Given the description of an element on the screen output the (x, y) to click on. 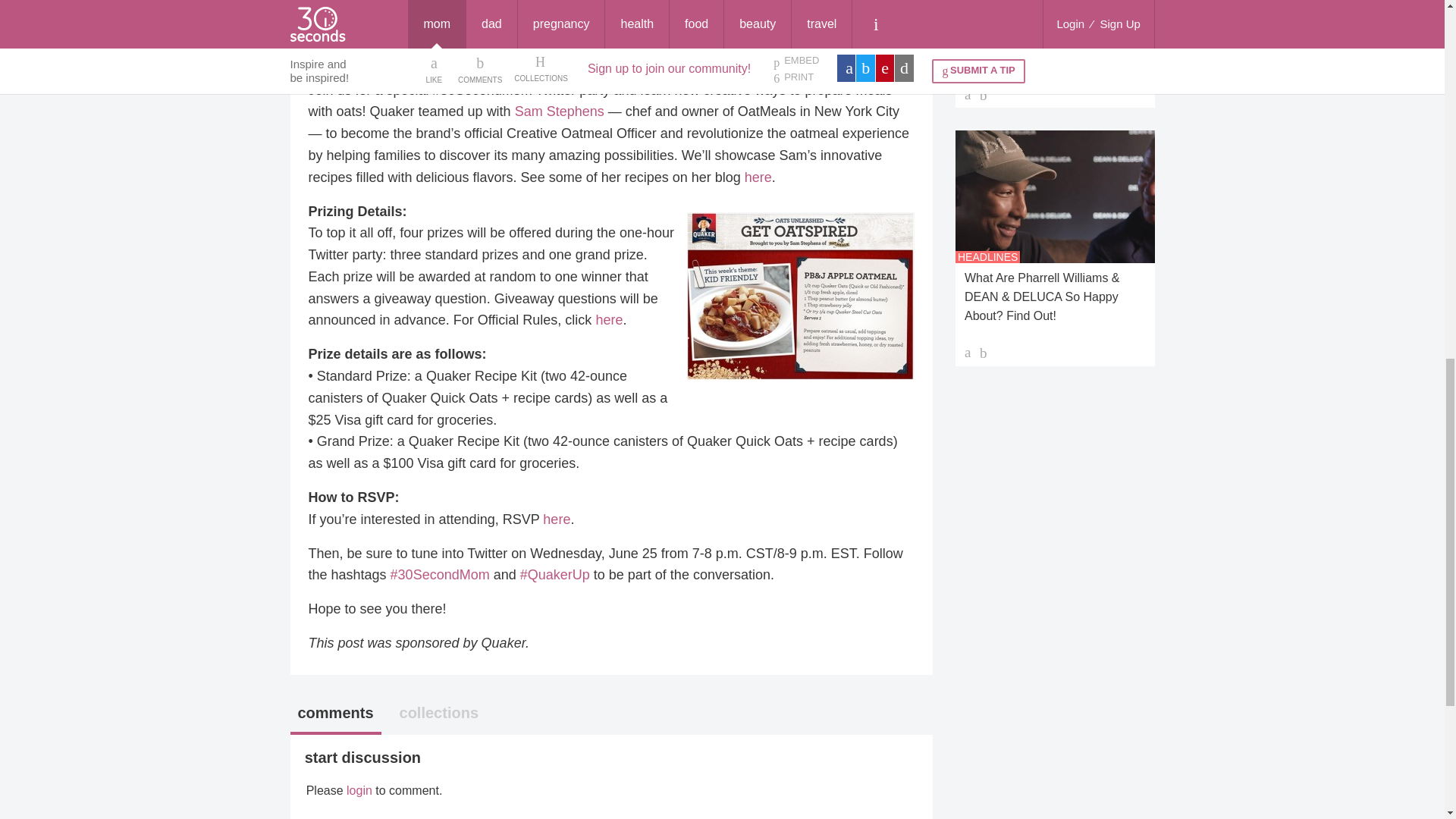
here (757, 177)
Sam Stephens (559, 111)
here (609, 319)
